Given the description of an element on the screen output the (x, y) to click on. 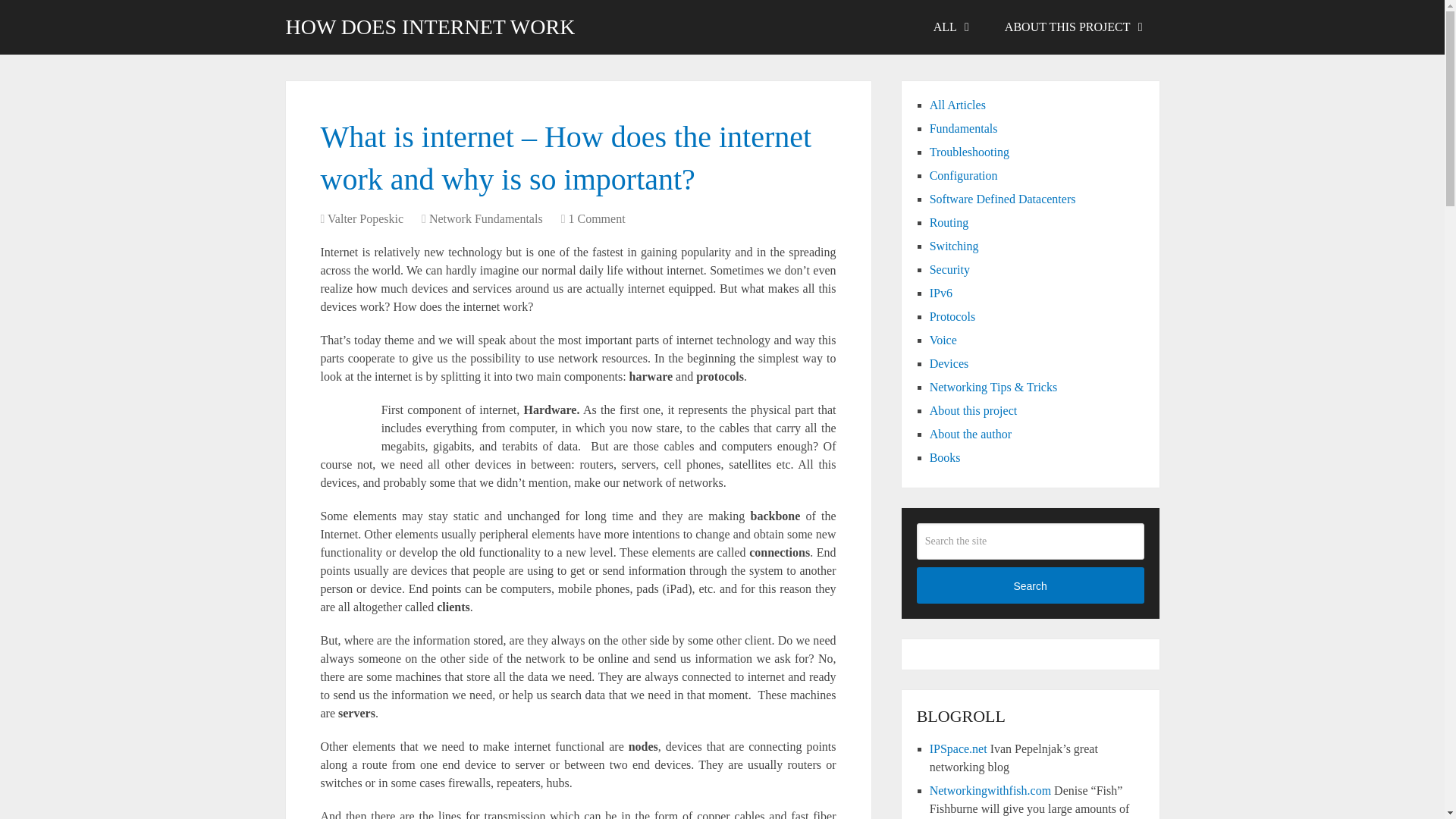
Posts by Valter Popeskic (365, 218)
Valter Popeskic (365, 218)
1 Comment (595, 218)
HOW DOES INTERNET WORK (430, 26)
View all posts in Network Fundamentals (486, 218)
Networking protocols (952, 316)
routing (949, 222)
ABOUT THIS PROJECT (1071, 27)
Network Fundamentals (486, 218)
Internet (340, 423)
ALL (949, 27)
